Given the description of an element on the screen output the (x, y) to click on. 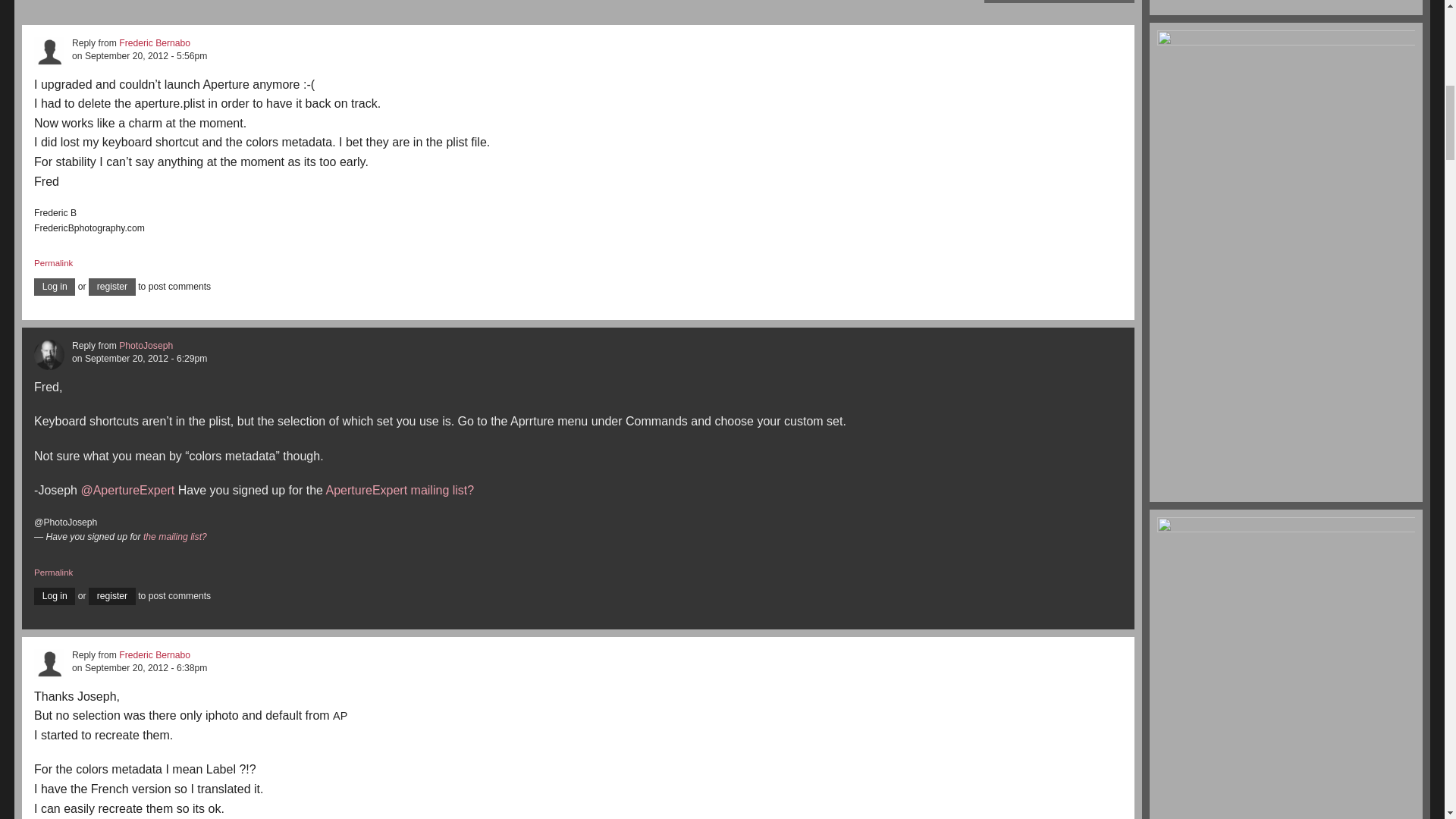
Frederic Bernabo's picture (48, 51)
View user profile. (146, 345)
View user profile. (48, 353)
View user profile. (48, 50)
View user profile. (154, 42)
PhotoJoseph's picture (48, 354)
